Given the description of an element on the screen output the (x, y) to click on. 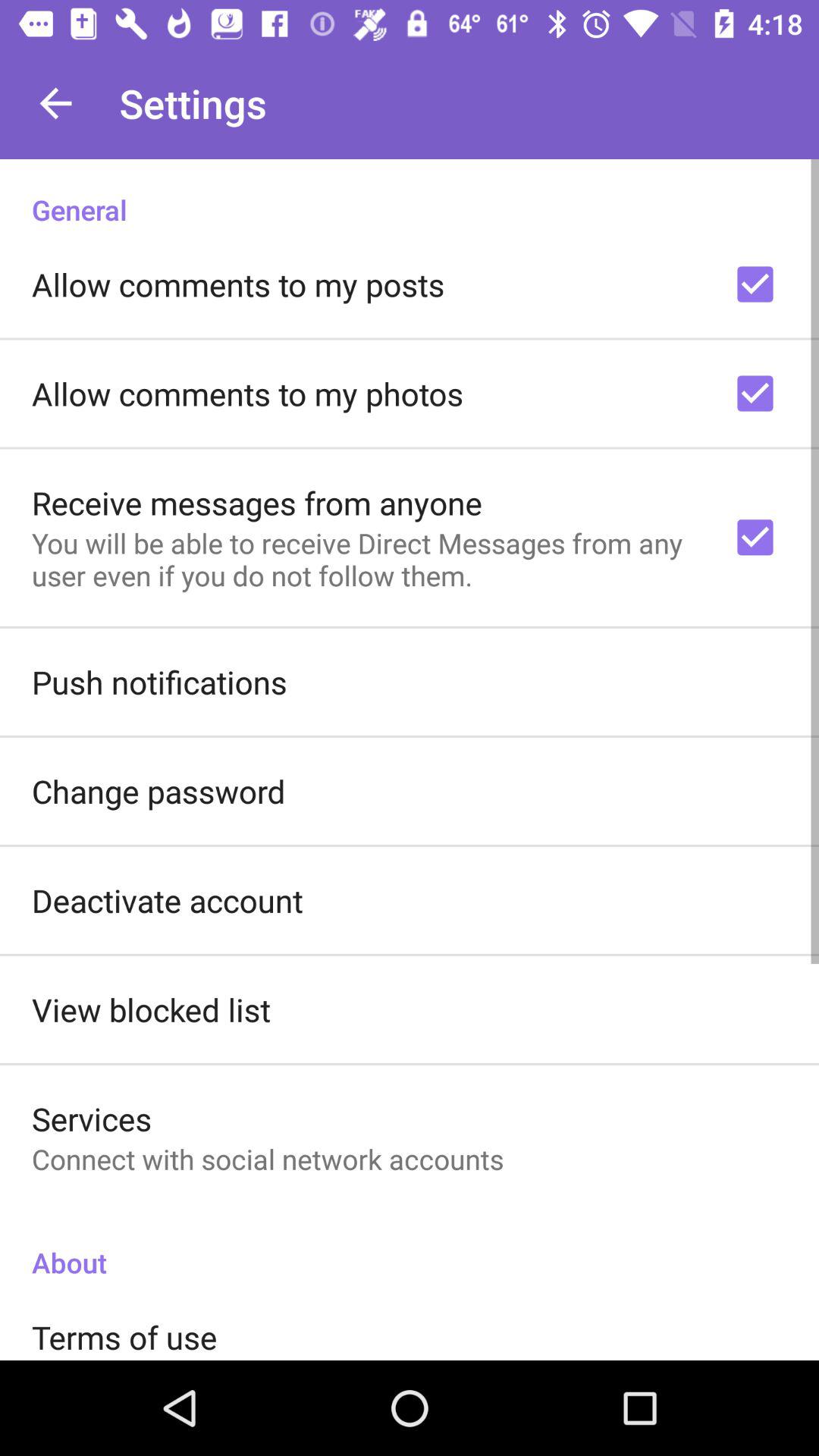
press the item below the change password icon (167, 899)
